Given the description of an element on the screen output the (x, y) to click on. 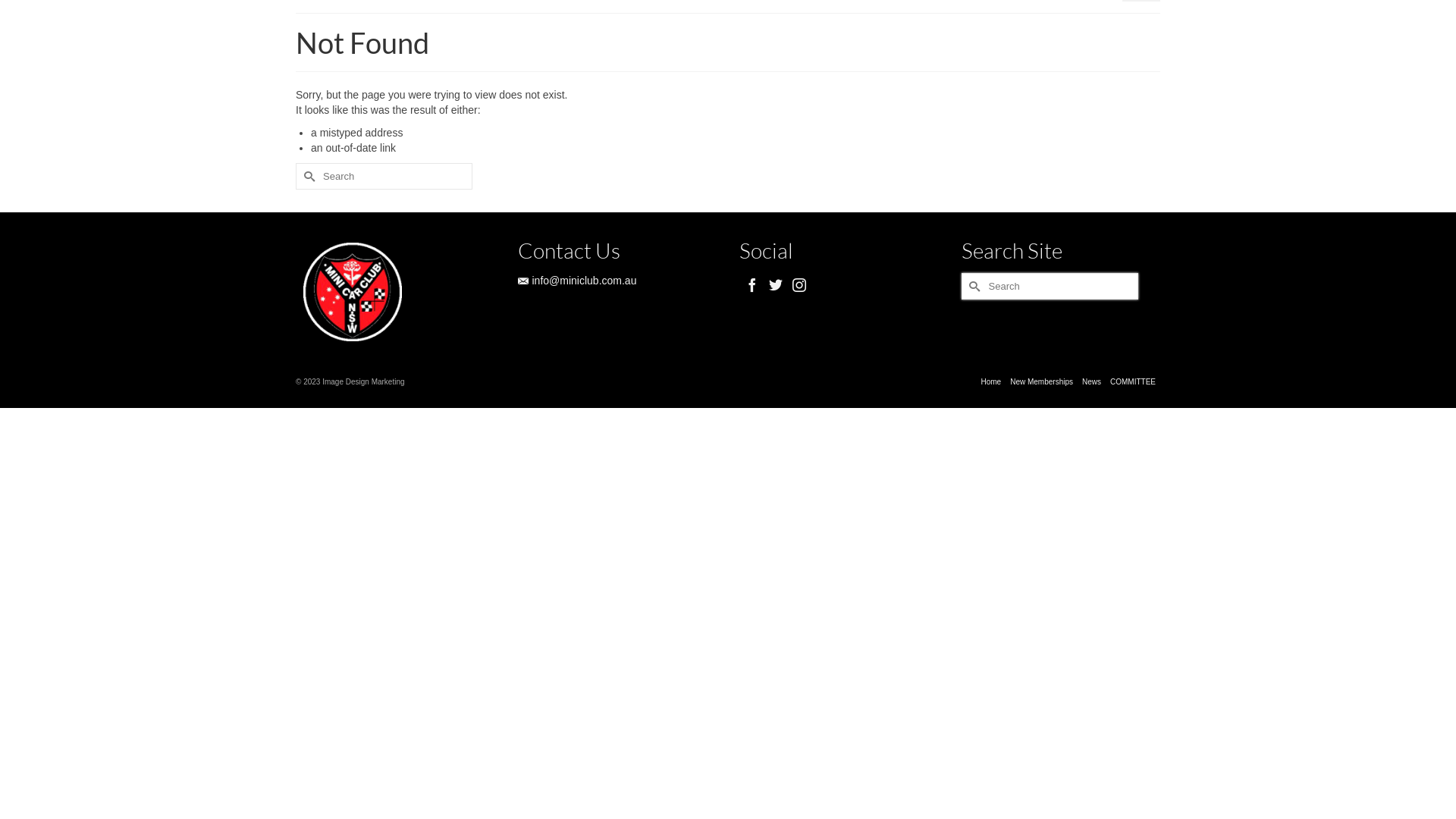
New Memberships Element type: text (1041, 381)
Home Element type: text (990, 381)
info@miniclub.com.au Element type: text (576, 280)
News Element type: text (1091, 381)
COMMITTEE Element type: text (1132, 381)
